Given the description of an element on the screen output the (x, y) to click on. 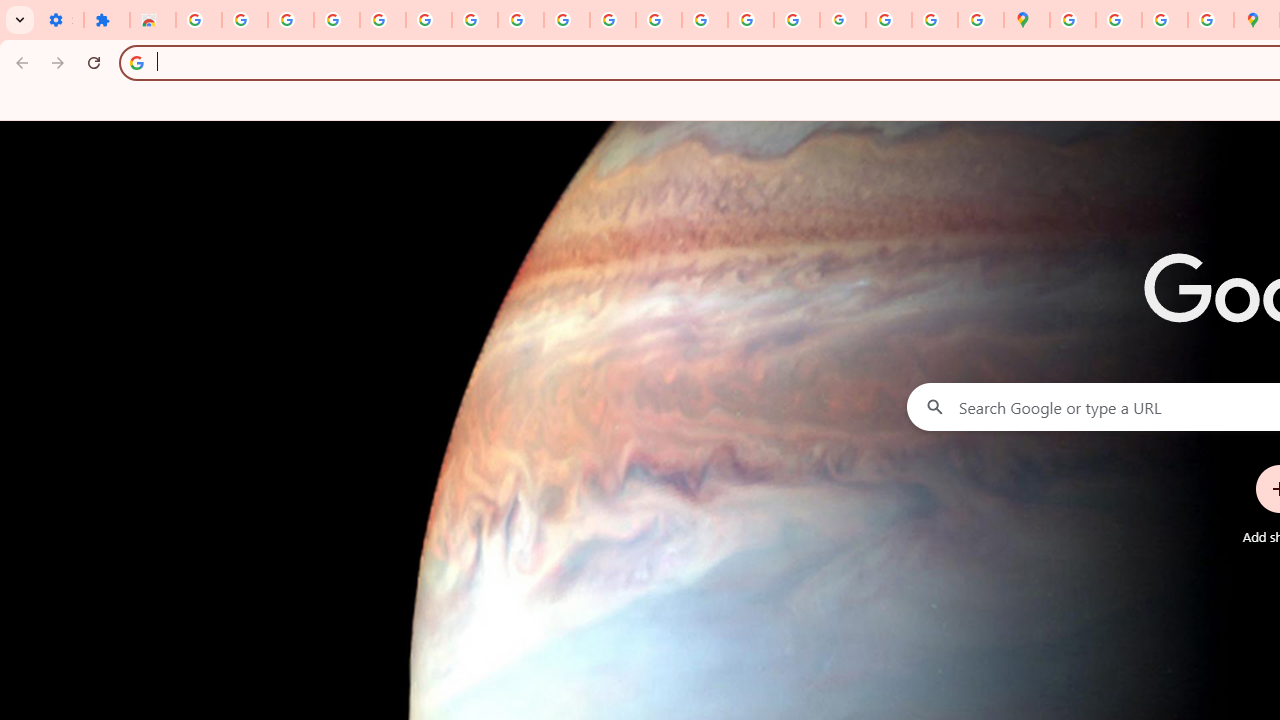
YouTube (567, 20)
